Given the description of an element on the screen output the (x, y) to click on. 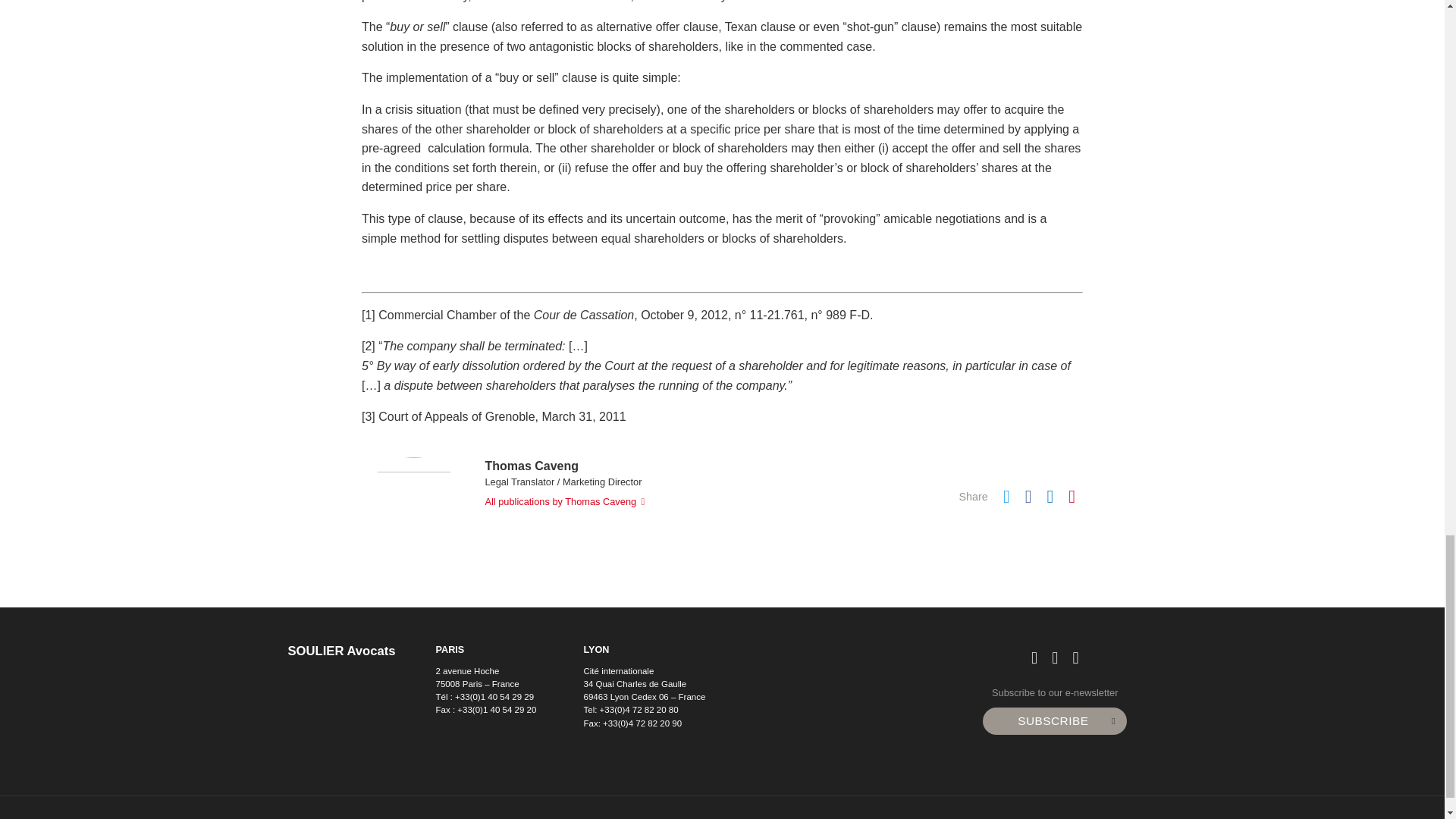
Twitter (1006, 499)
Envoyer par mail (1071, 499)
Facebook (1028, 499)
Linkedin (1049, 499)
